Given the description of an element on the screen output the (x, y) to click on. 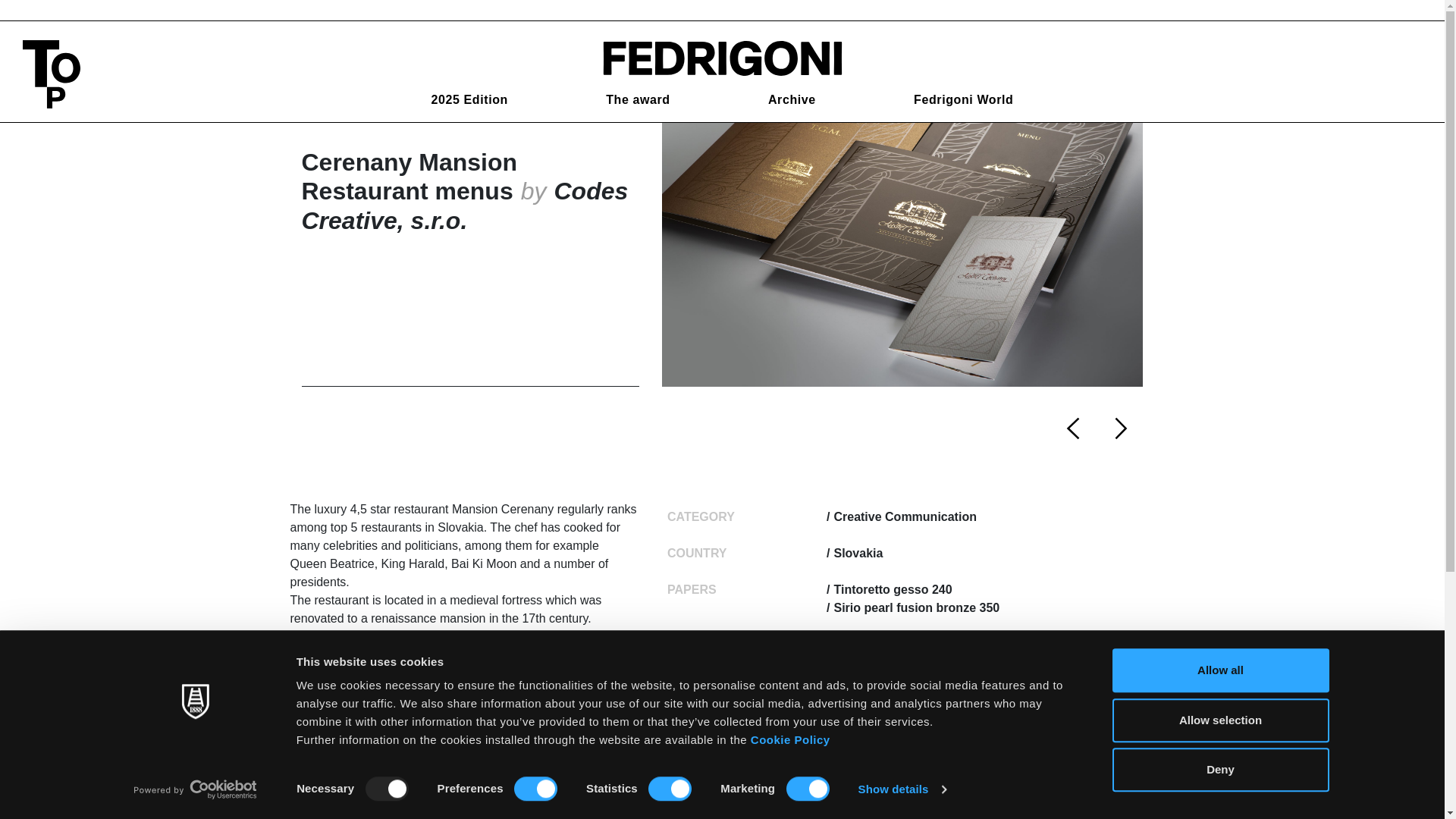
Deny (1219, 769)
Allow all (1219, 670)
The award (637, 99)
2025 Edition (468, 99)
Allow selection (1219, 720)
Cookie Policy (790, 739)
Show details (900, 789)
Fedrigoni Top Award (721, 56)
